Given the description of an element on the screen output the (x, y) to click on. 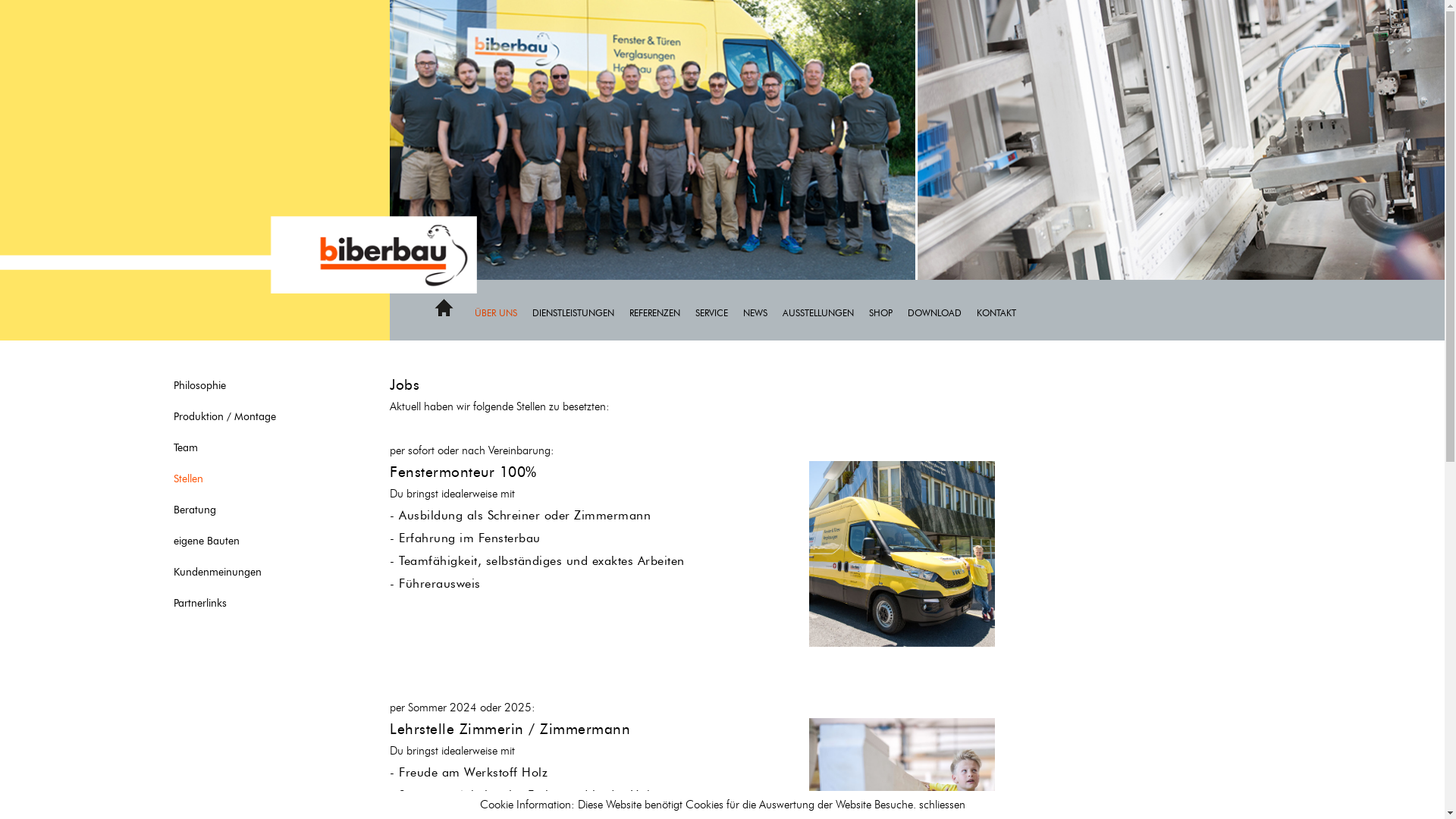
DOWNLOAD Element type: text (941, 311)
Home Element type: hover (443, 307)
Beratung Element type: text (241, 509)
SERVICE Element type: text (719, 311)
Kundenmeinungen Element type: text (241, 571)
Philosophie Element type: text (241, 385)
Partnerlinks Element type: text (241, 602)
eigene Bauten Element type: text (241, 540)
Home Element type: text (443, 313)
SHOP Element type: text (888, 311)
Stellen Element type: text (241, 478)
Team Element type: text (241, 447)
Produktion / Montage Element type: text (241, 416)
AUSSTELLUNGEN Element type: text (825, 311)
NEWS Element type: text (762, 311)
REFERENZEN Element type: text (662, 311)
DIENSTLEISTUNGEN Element type: text (580, 311)
KONTAKT Element type: text (1003, 311)
